Given the description of an element on the screen output the (x, y) to click on. 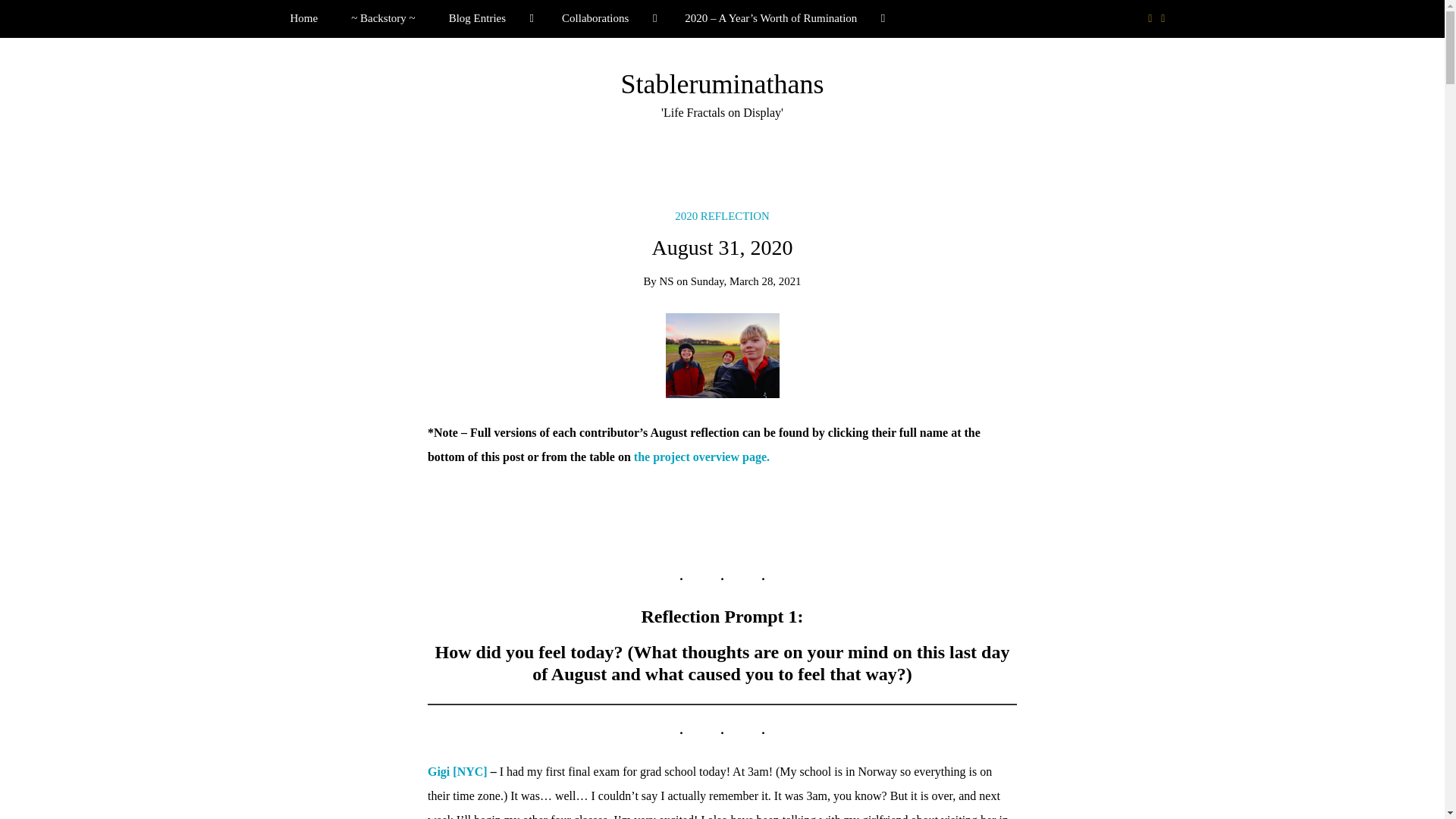
Home (304, 18)
Permalink to: "August 31, 2020" (721, 354)
Blog Entries (488, 18)
Posts by NS (666, 281)
